Given the description of an element on the screen output the (x, y) to click on. 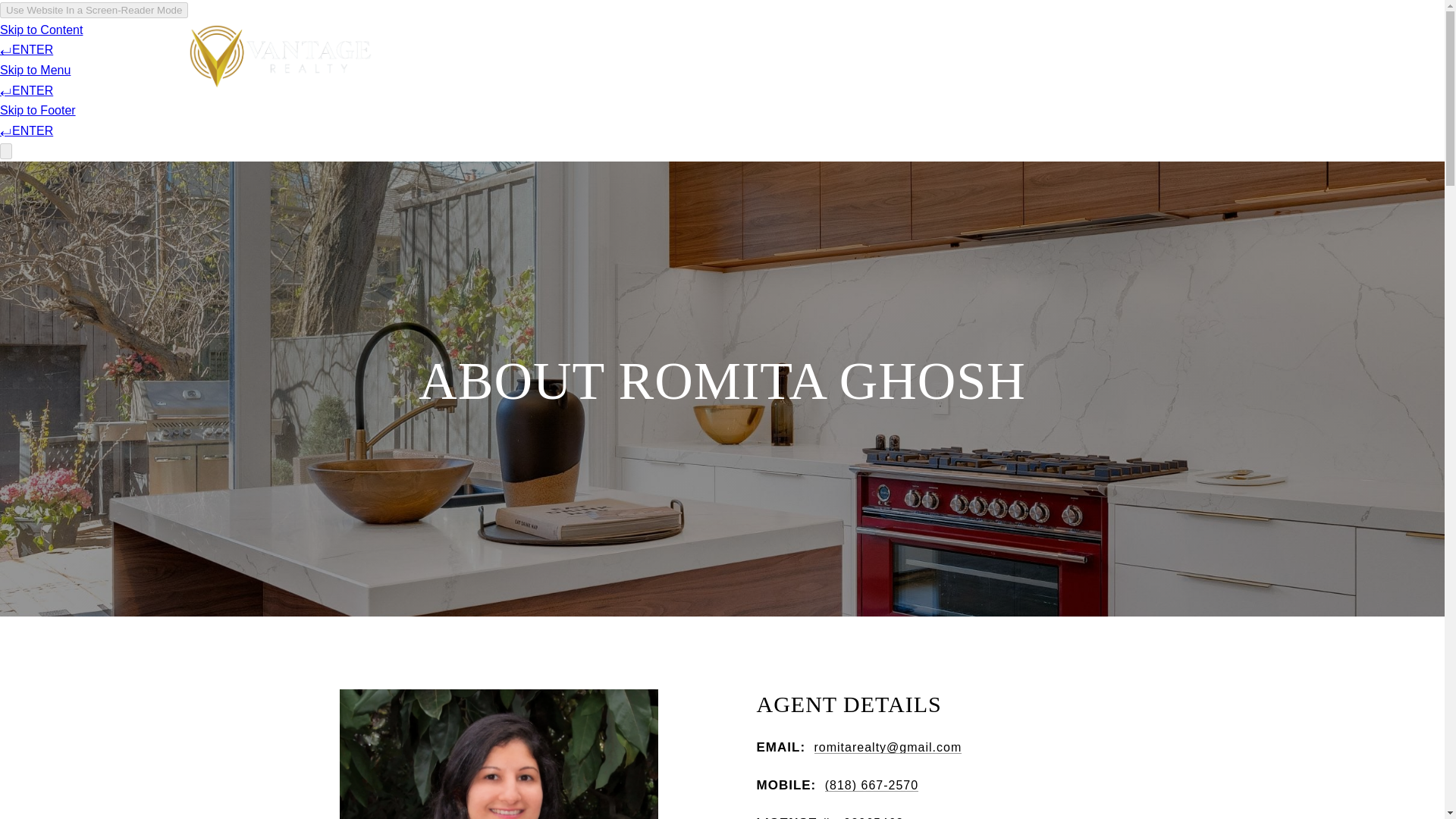
TEAM (749, 55)
CAREERS (966, 55)
HOME SEARCH (1152, 55)
PROPERTY VALUATION (852, 55)
CONTACT US (1051, 55)
